Given the description of an element on the screen output the (x, y) to click on. 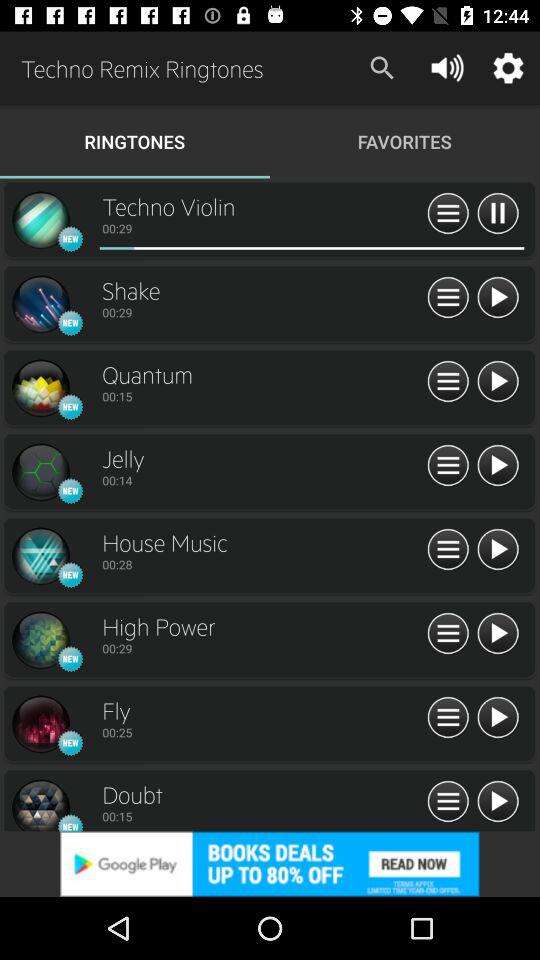
information view option (447, 465)
